Given the description of an element on the screen output the (x, y) to click on. 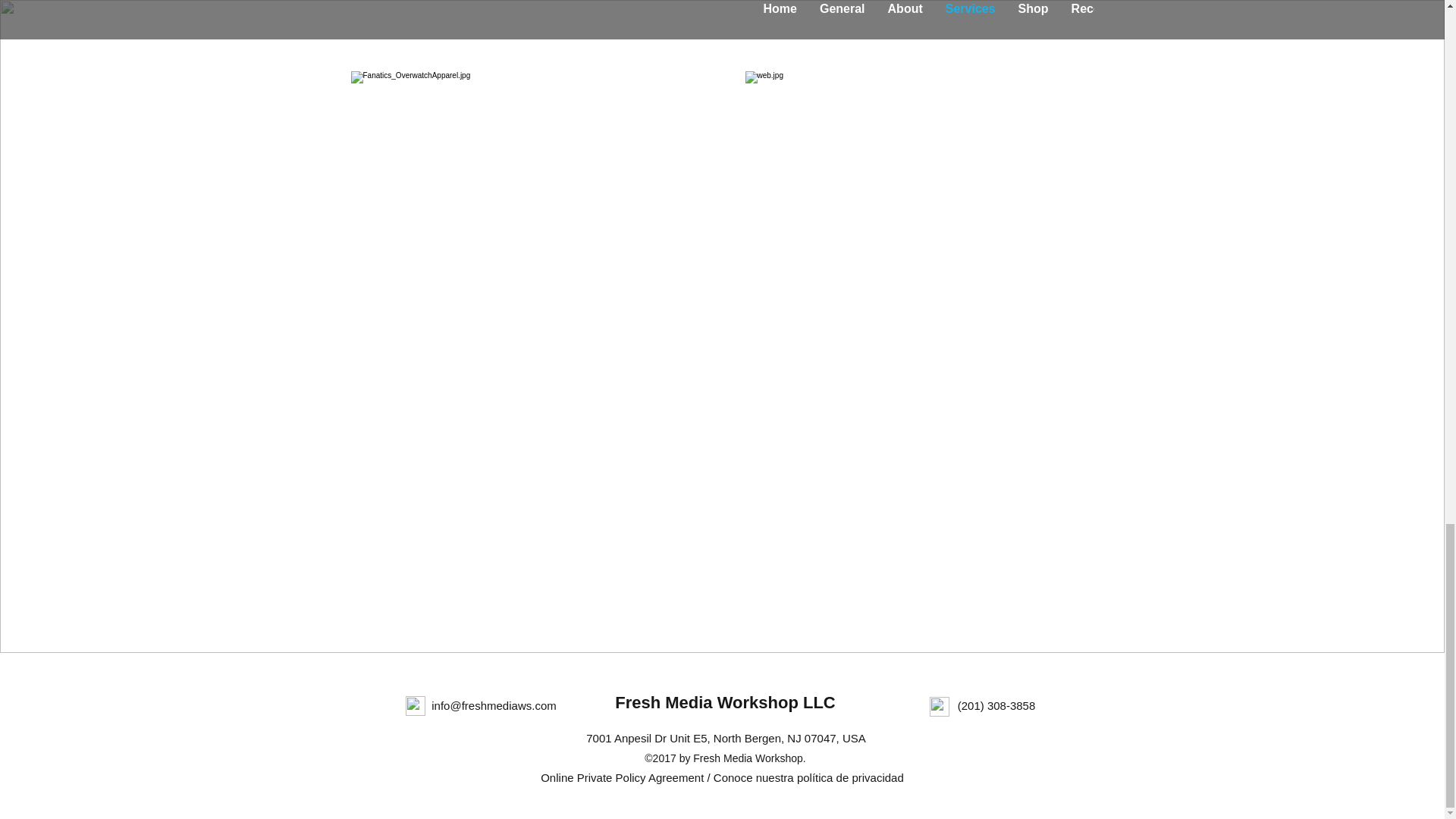
Fresh Media Workshop LLC (724, 701)
